Given the description of an element on the screen output the (x, y) to click on. 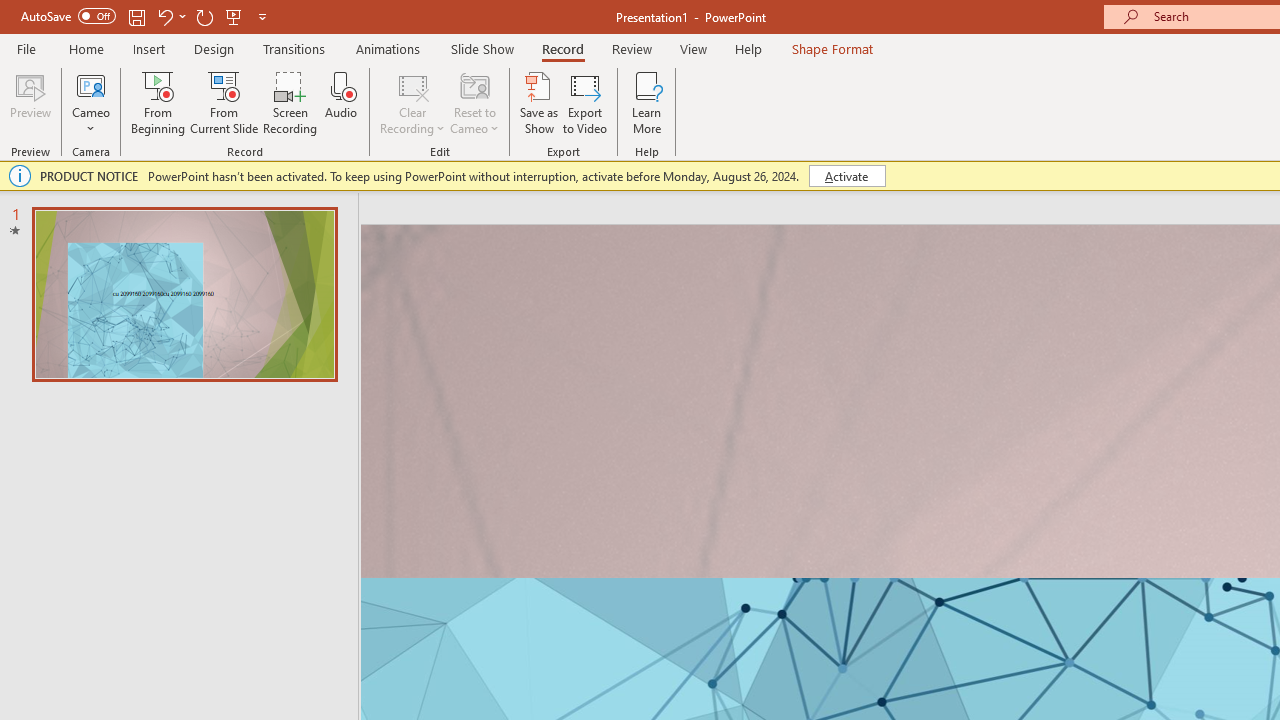
Activate (846, 175)
